Given the description of an element on the screen output the (x, y) to click on. 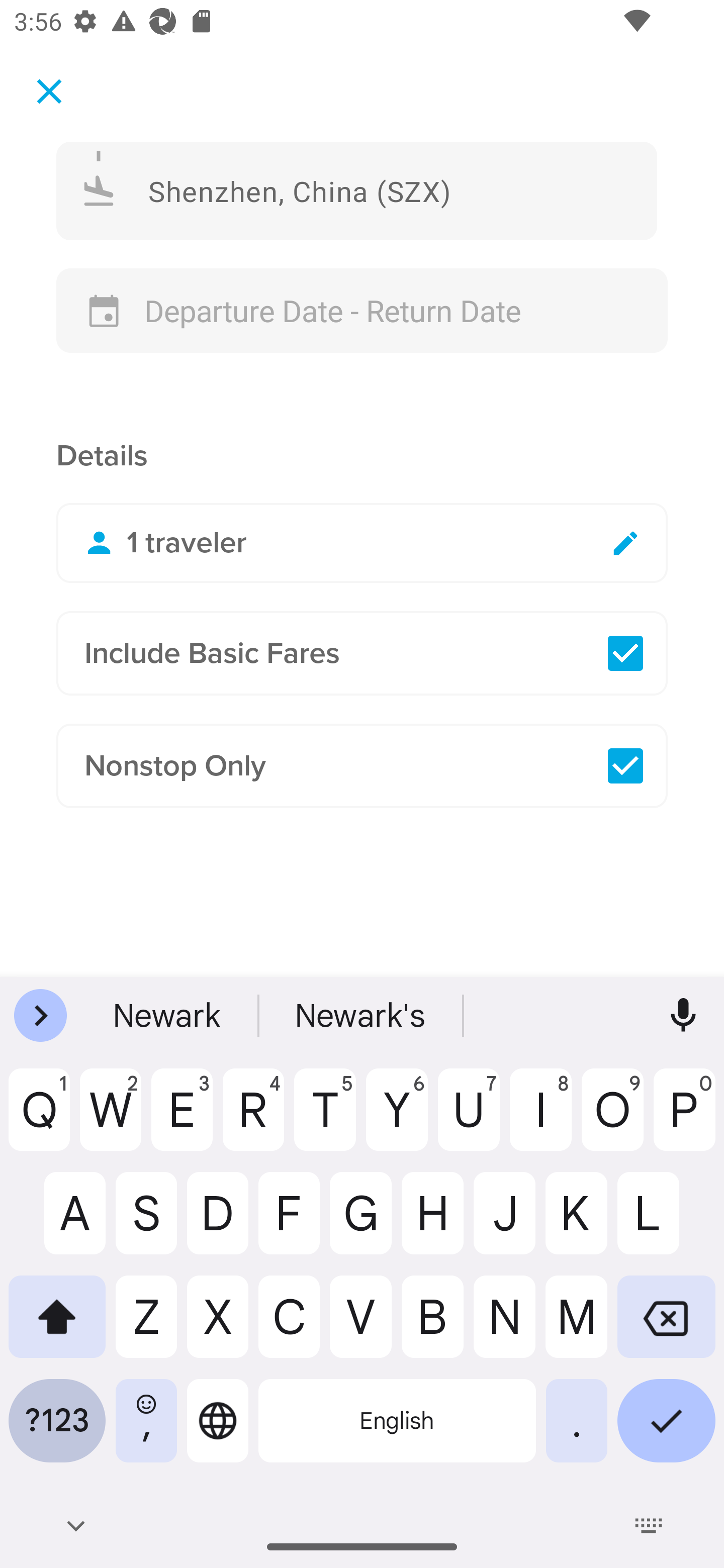
Cancel (49, 90)
Shenzhen, China (SZX) (356, 190)
Departure Date - Return Date (361, 310)
1 traveler Edit Travelers (361, 542)
Include Basic Fares (361, 653)
Nonstop Only (361, 765)
